Given the description of an element on the screen output the (x, y) to click on. 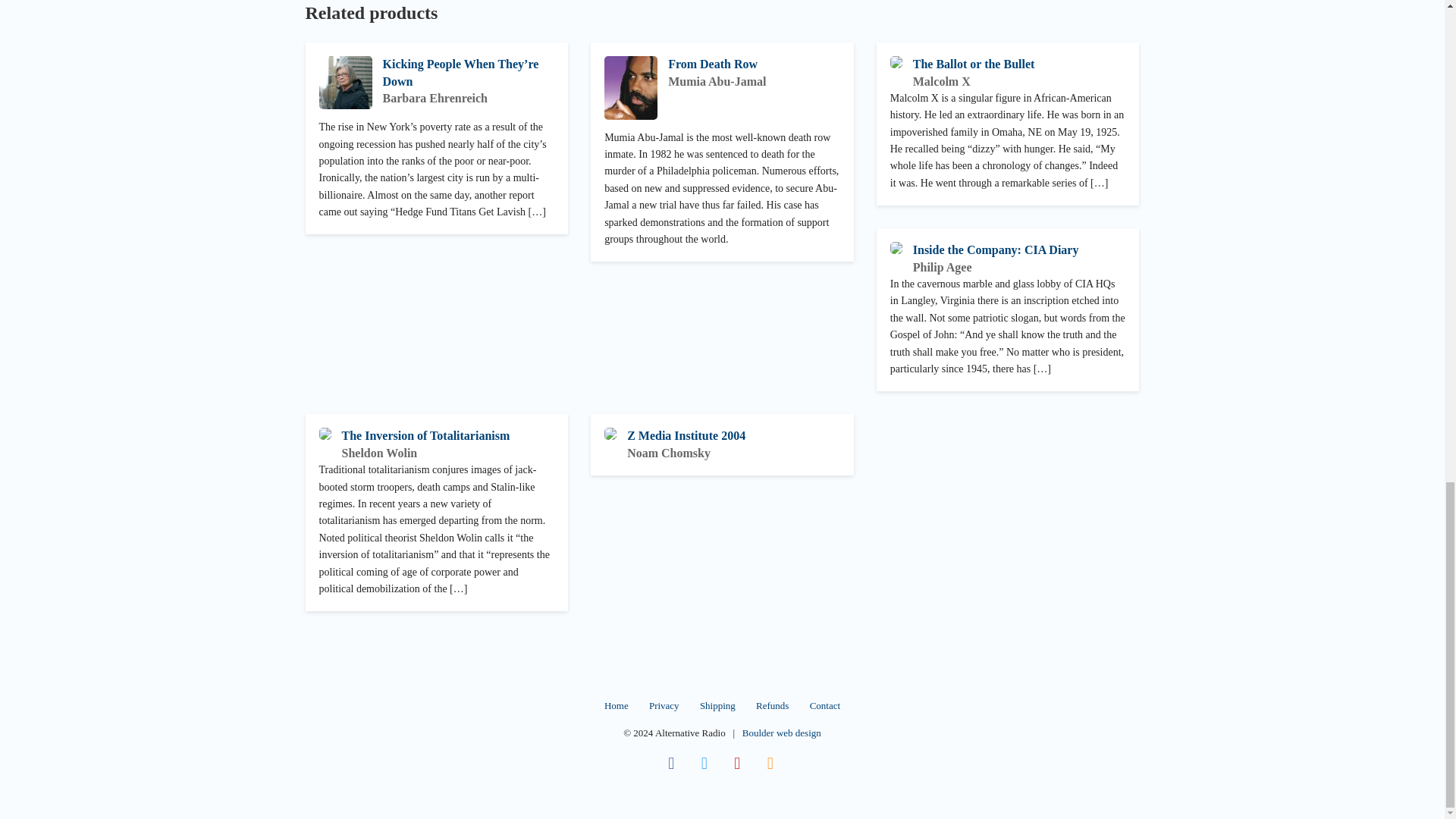
YouTube (737, 763)
Facebook (670, 763)
Twitter (704, 763)
Podcast (769, 763)
